Given the description of an element on the screen output the (x, y) to click on. 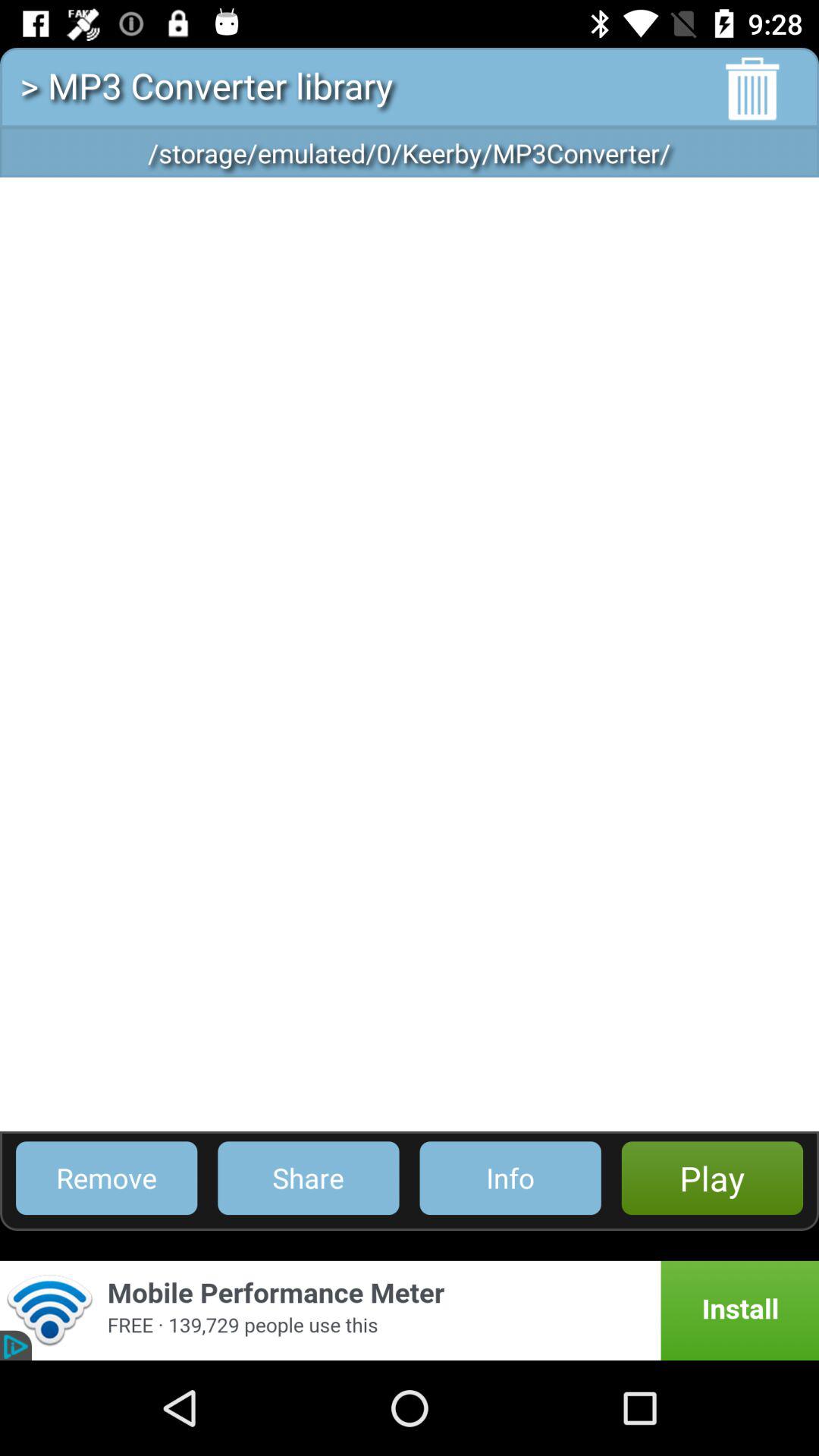
select info app (510, 1177)
